Given the description of an element on the screen output the (x, y) to click on. 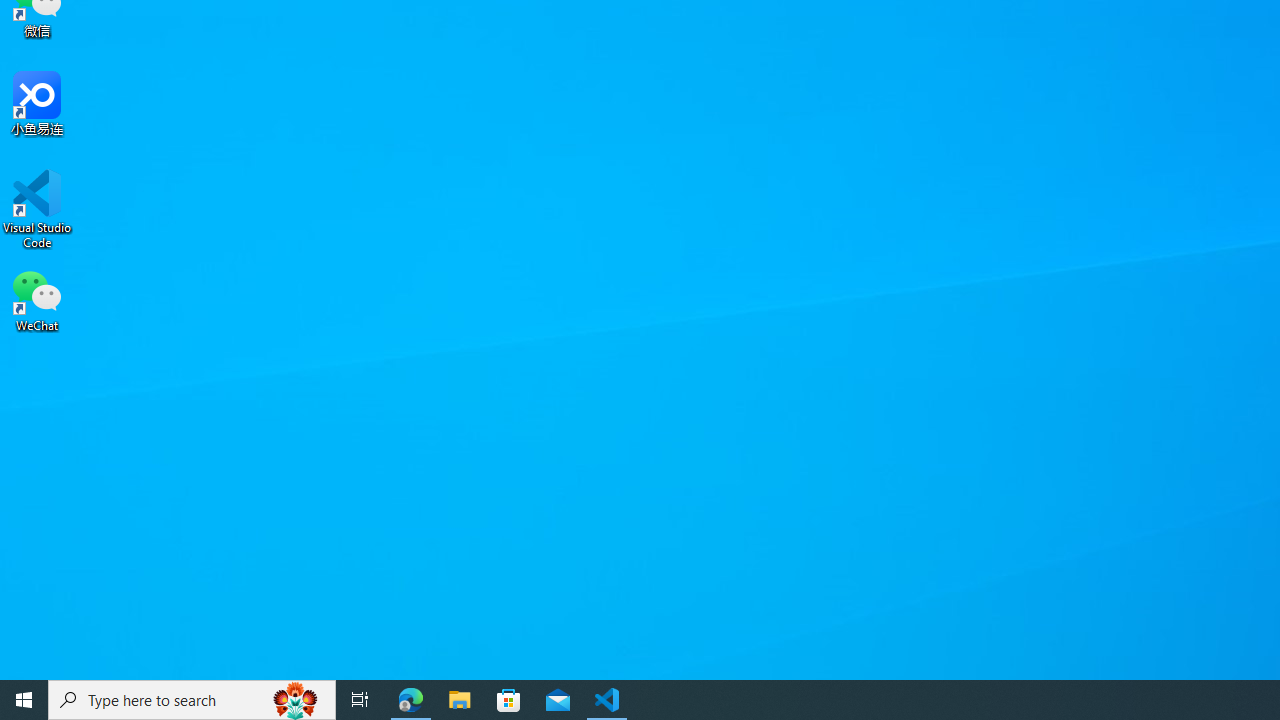
Search highlights icon opens search home window (295, 699)
Visual Studio Code - 1 running window (607, 699)
Type here to search (191, 699)
Visual Studio Code (37, 209)
File Explorer (460, 699)
WeChat (37, 299)
Microsoft Store (509, 699)
Start (24, 699)
Microsoft Edge - 1 running window (411, 699)
Task View (359, 699)
